Given the description of an element on the screen output the (x, y) to click on. 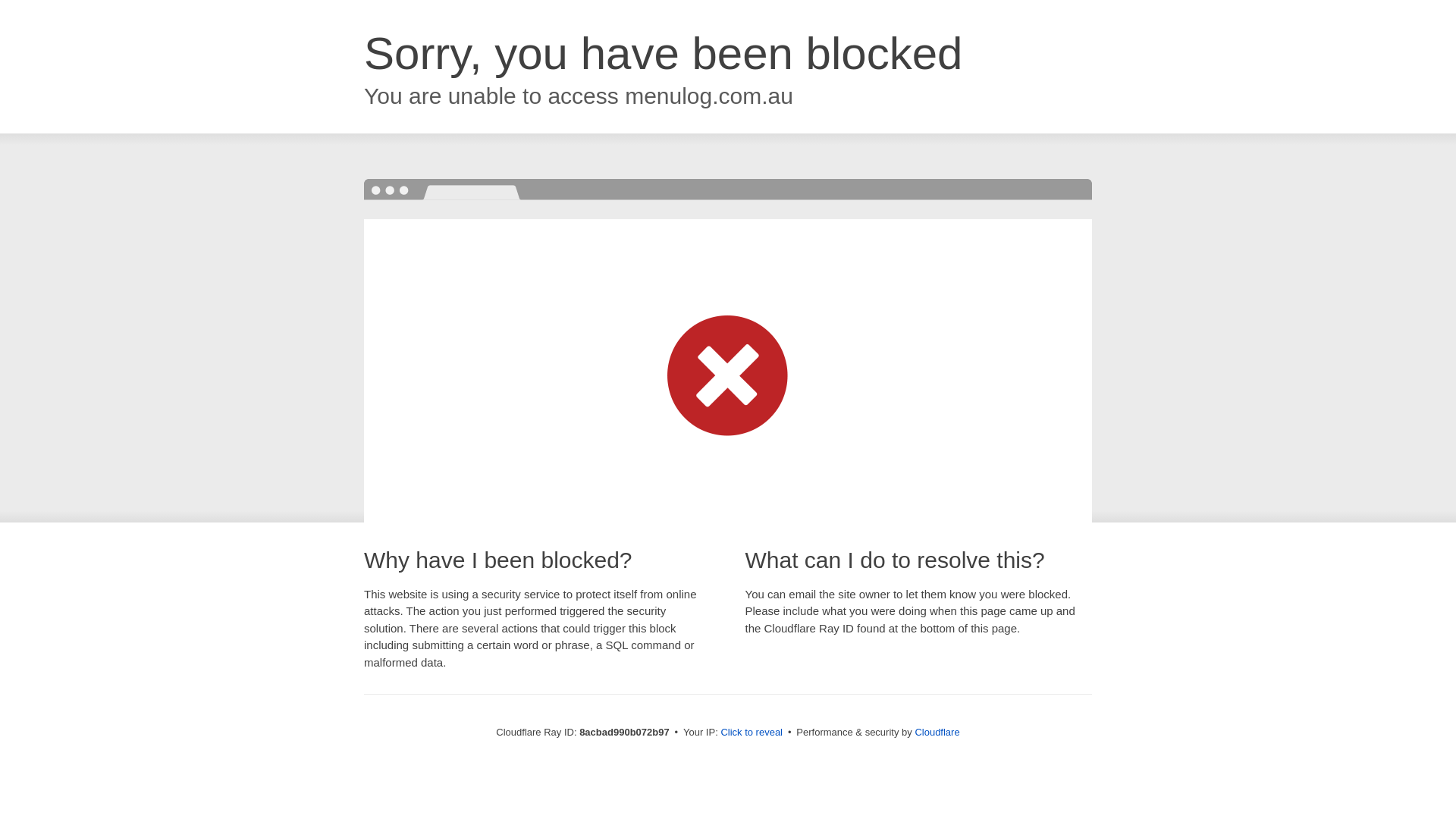
Click to reveal (751, 732)
Cloudflare (936, 731)
